Given the description of an element on the screen output the (x, y) to click on. 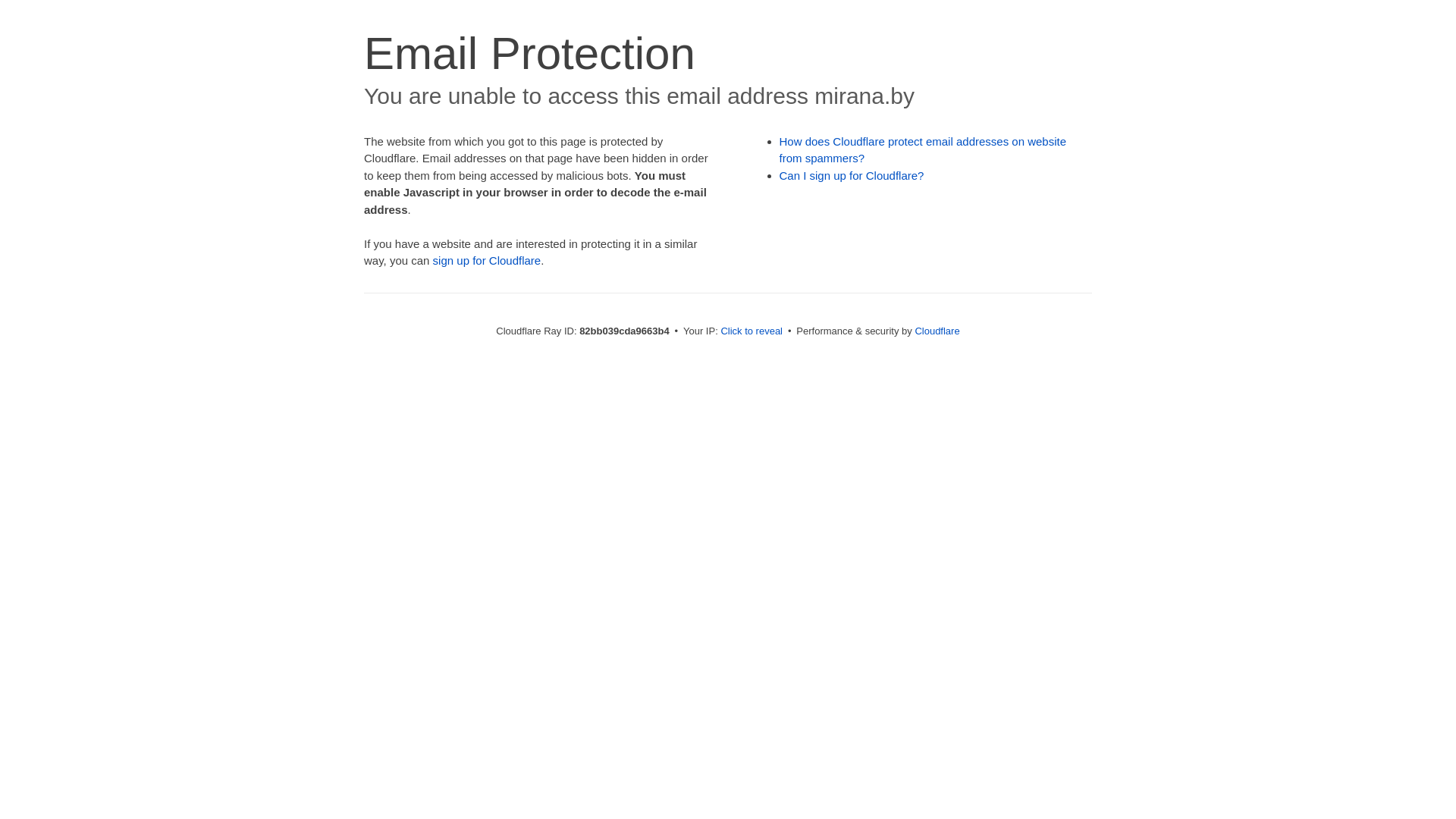
Cloudflare Element type: text (936, 330)
Click to reveal Element type: text (751, 330)
sign up for Cloudflare Element type: text (487, 260)
Can I sign up for Cloudflare? Element type: text (851, 175)
